Given the description of an element on the screen output the (x, y) to click on. 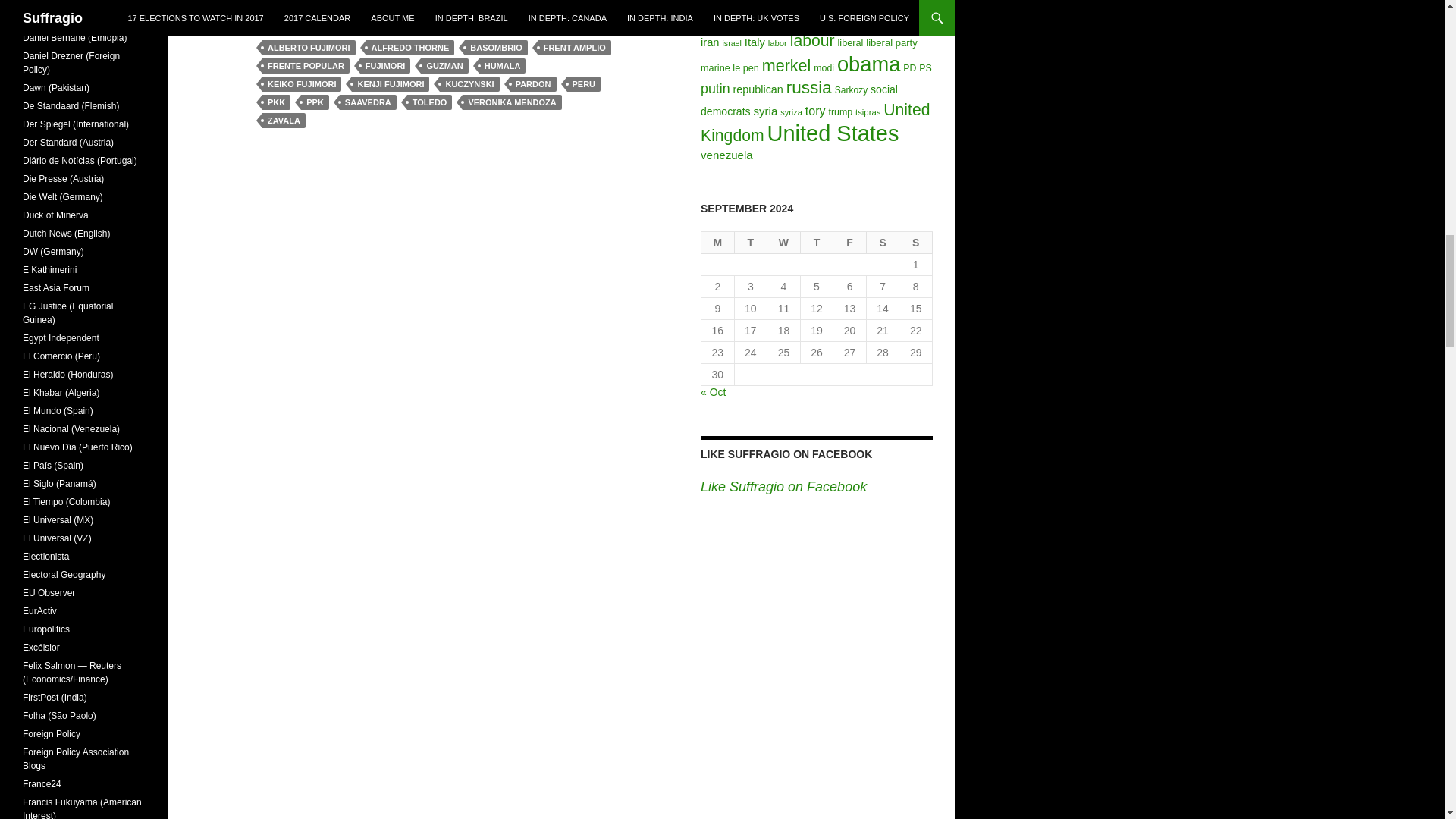
Monday (718, 242)
HUMALA (502, 65)
Sunday (916, 242)
FUJIMORI (384, 65)
BASOMBRIO (495, 47)
KUCZYNSKI (469, 83)
KEIKO FUJIMORI (301, 83)
FRENT AMPLIO (574, 47)
Friday (849, 242)
ALFREDO THORNE (410, 47)
